Given the description of an element on the screen output the (x, y) to click on. 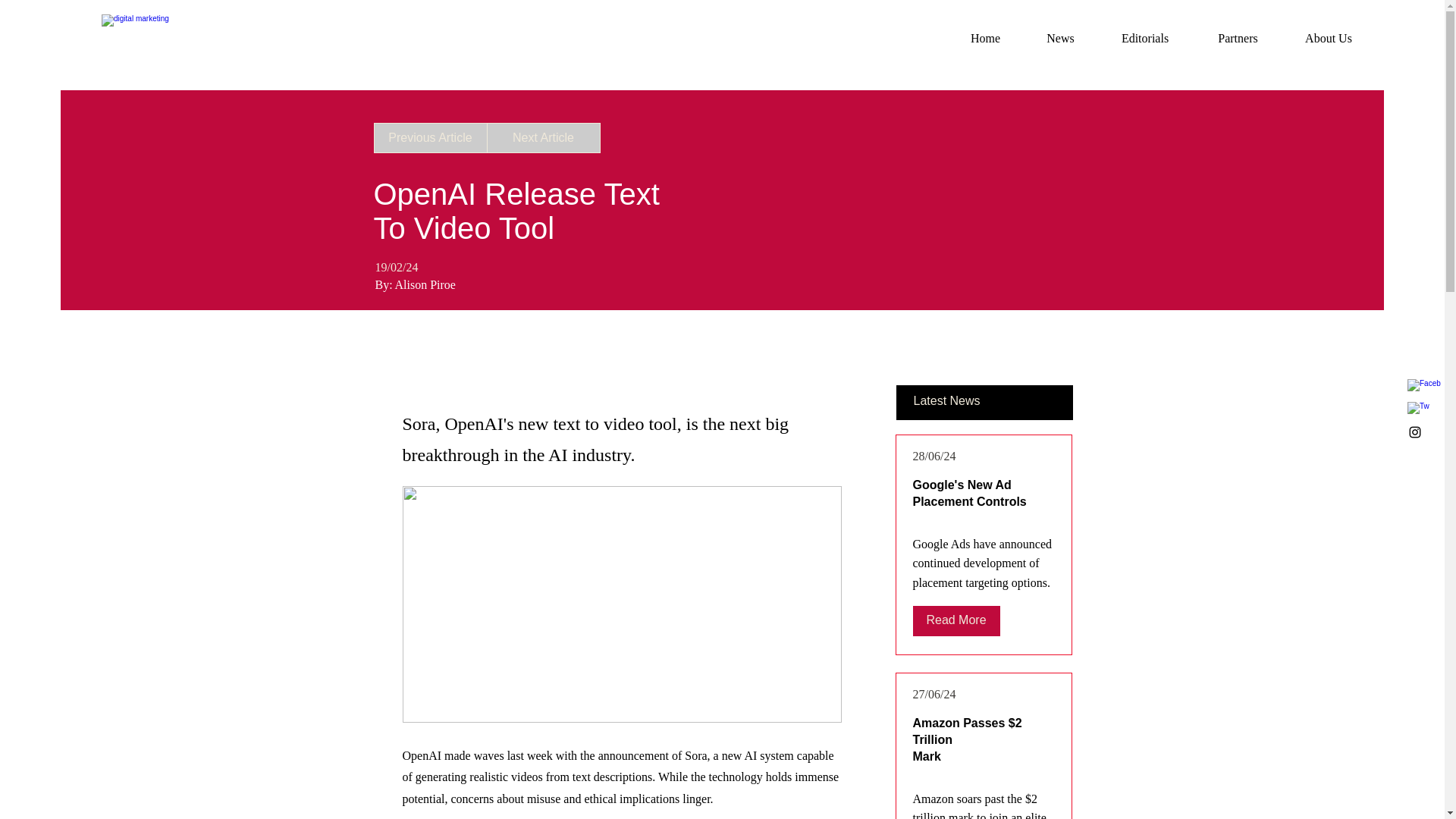
Partners (1237, 38)
Read More (956, 621)
Home (985, 38)
Image by Andrew Neel.jpg (621, 604)
Editorials (1144, 38)
News (1060, 38)
Previous Article (429, 137)
About Us (1328, 38)
Next Article (542, 137)
